Given the description of an element on the screen output the (x, y) to click on. 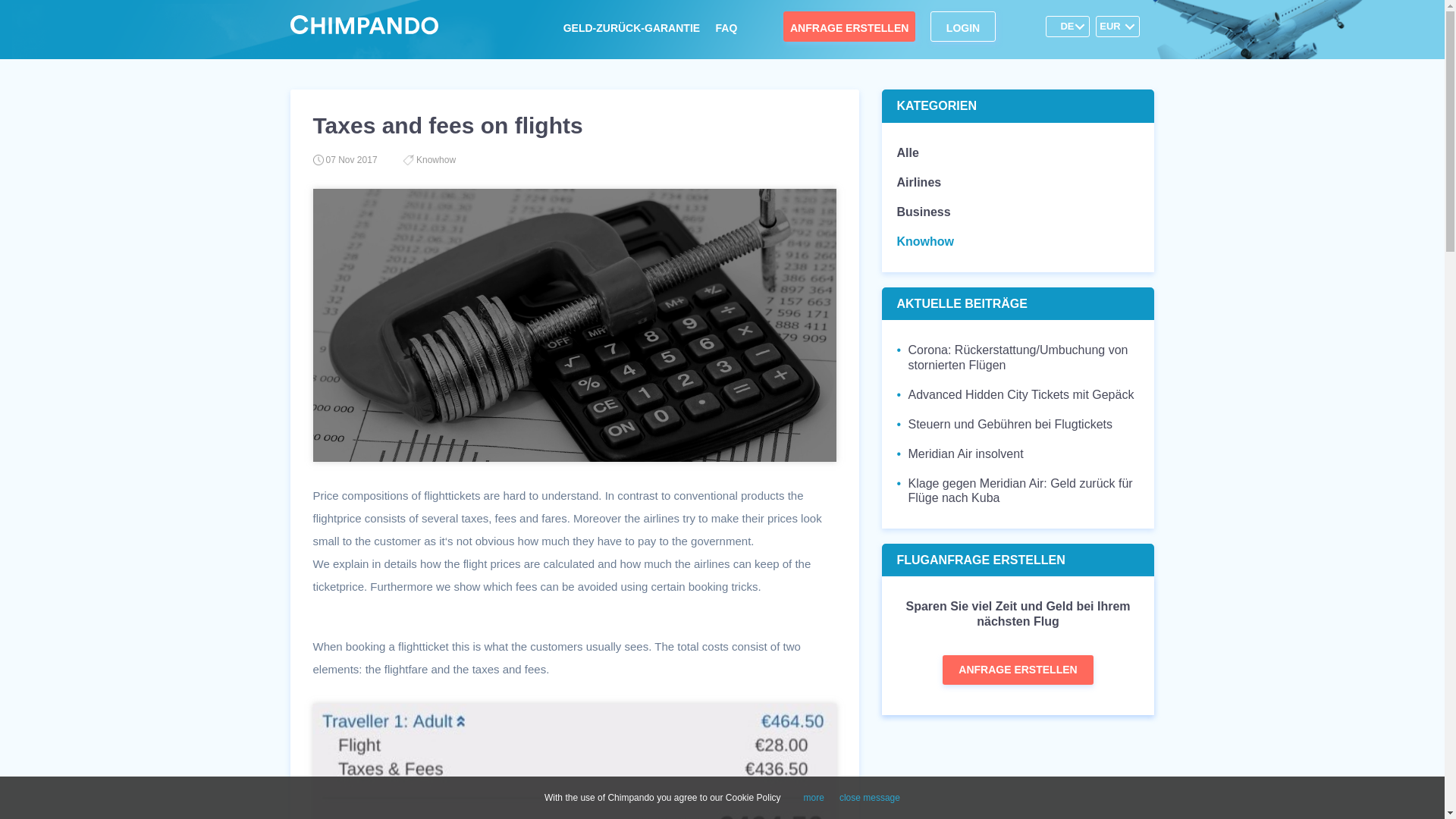
Business (923, 211)
Meridian Air insolvent (959, 453)
ANFRAGE ERSTELLEN (849, 26)
more (813, 797)
ANFRAGE ERSTELLEN (1017, 669)
FAQ (727, 26)
Knowhow (924, 241)
LOGIN (962, 26)
close message (869, 797)
Airlines (918, 182)
